Given the description of an element on the screen output the (x, y) to click on. 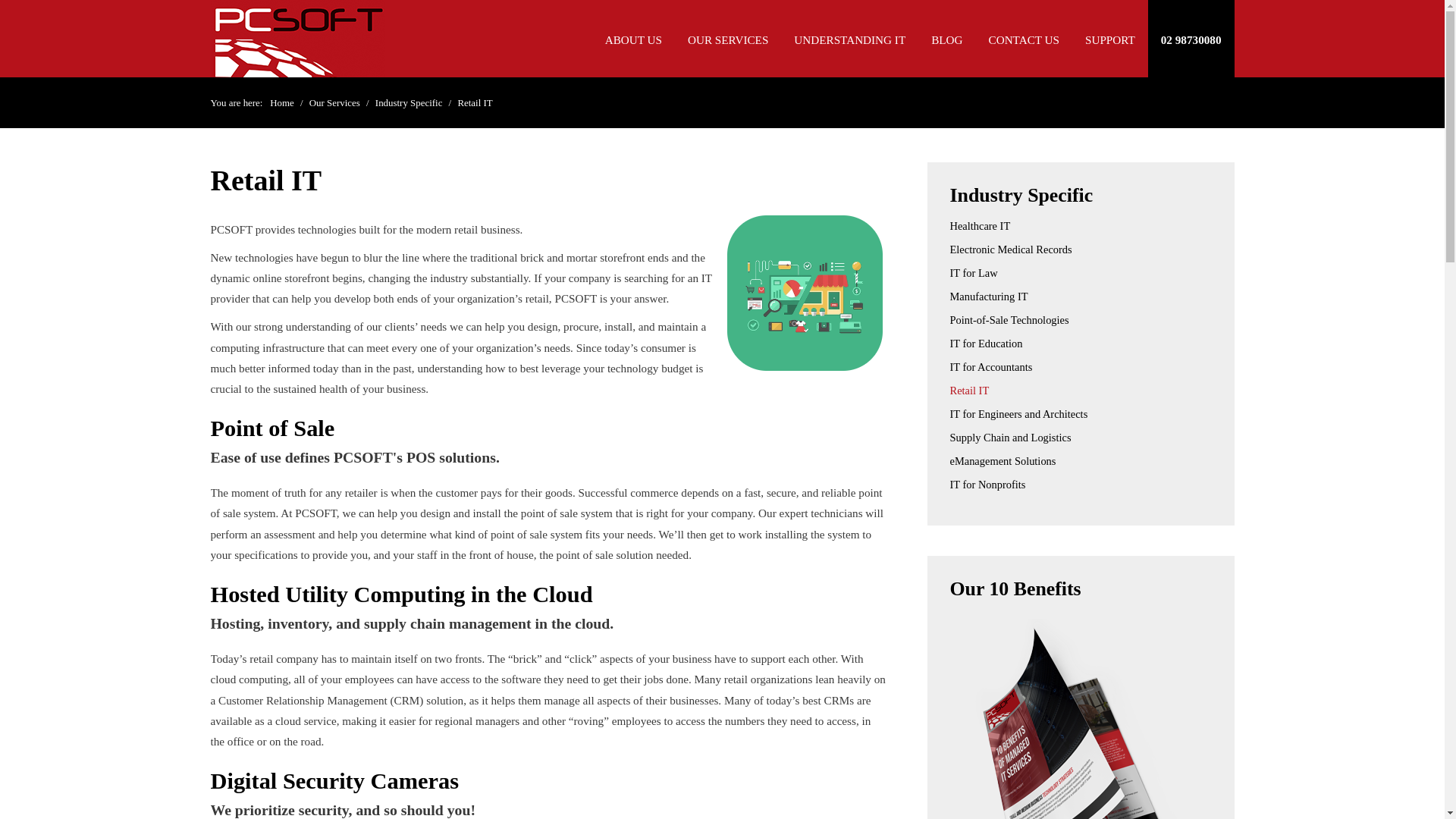
ABOUT US (633, 39)
OUR SERVICES (727, 39)
